Given the description of an element on the screen output the (x, y) to click on. 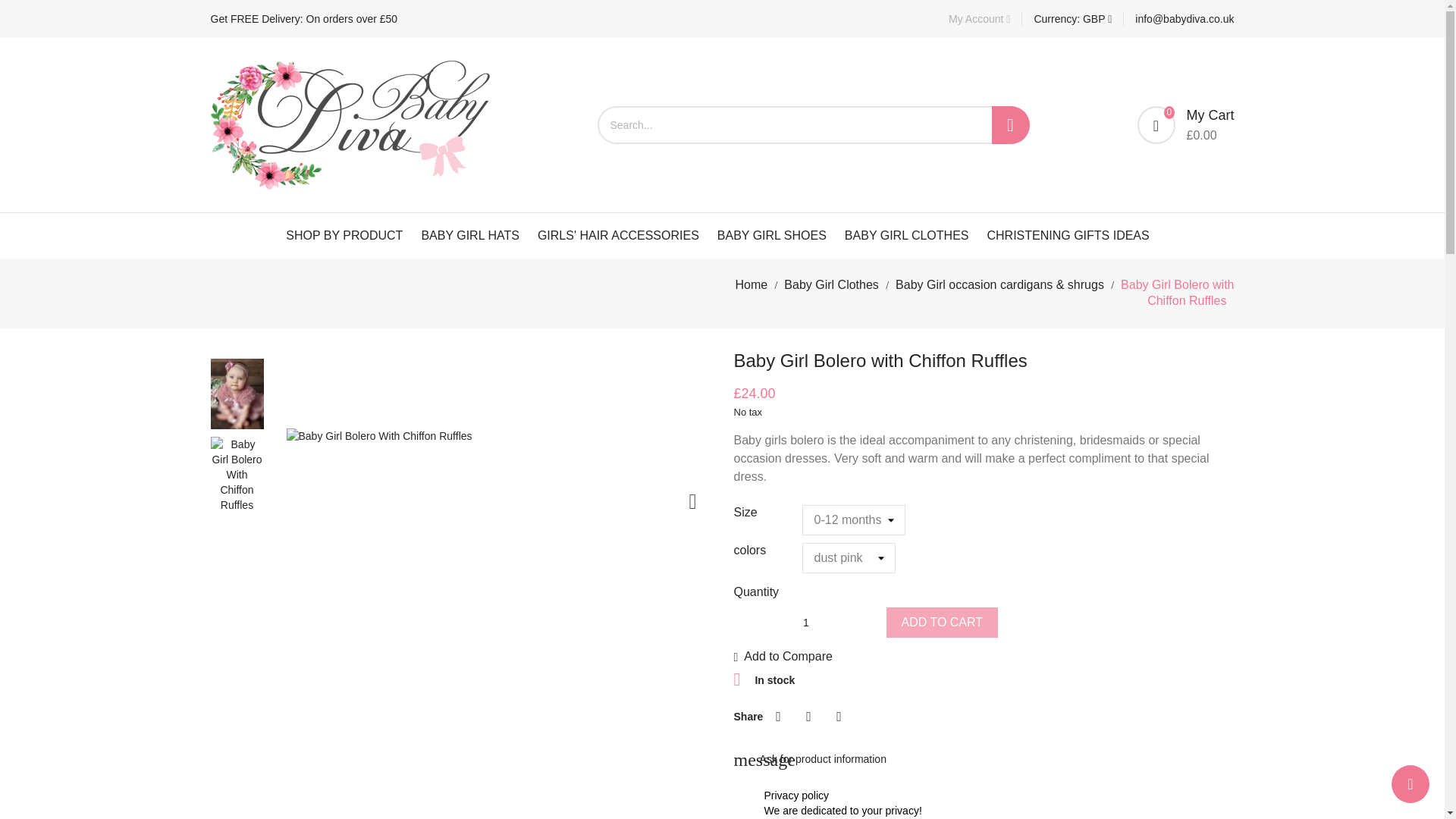
Pinterest (838, 716)
Tweet (808, 716)
Baby Girl Bolero With Chiffon Ruffles (378, 435)
1 (806, 622)
Currency: GBP (1072, 18)
SHOP BY PRODUCT (344, 235)
Add to Compare (782, 656)
Share (777, 716)
My Account (979, 18)
